Given the description of an element on the screen output the (x, y) to click on. 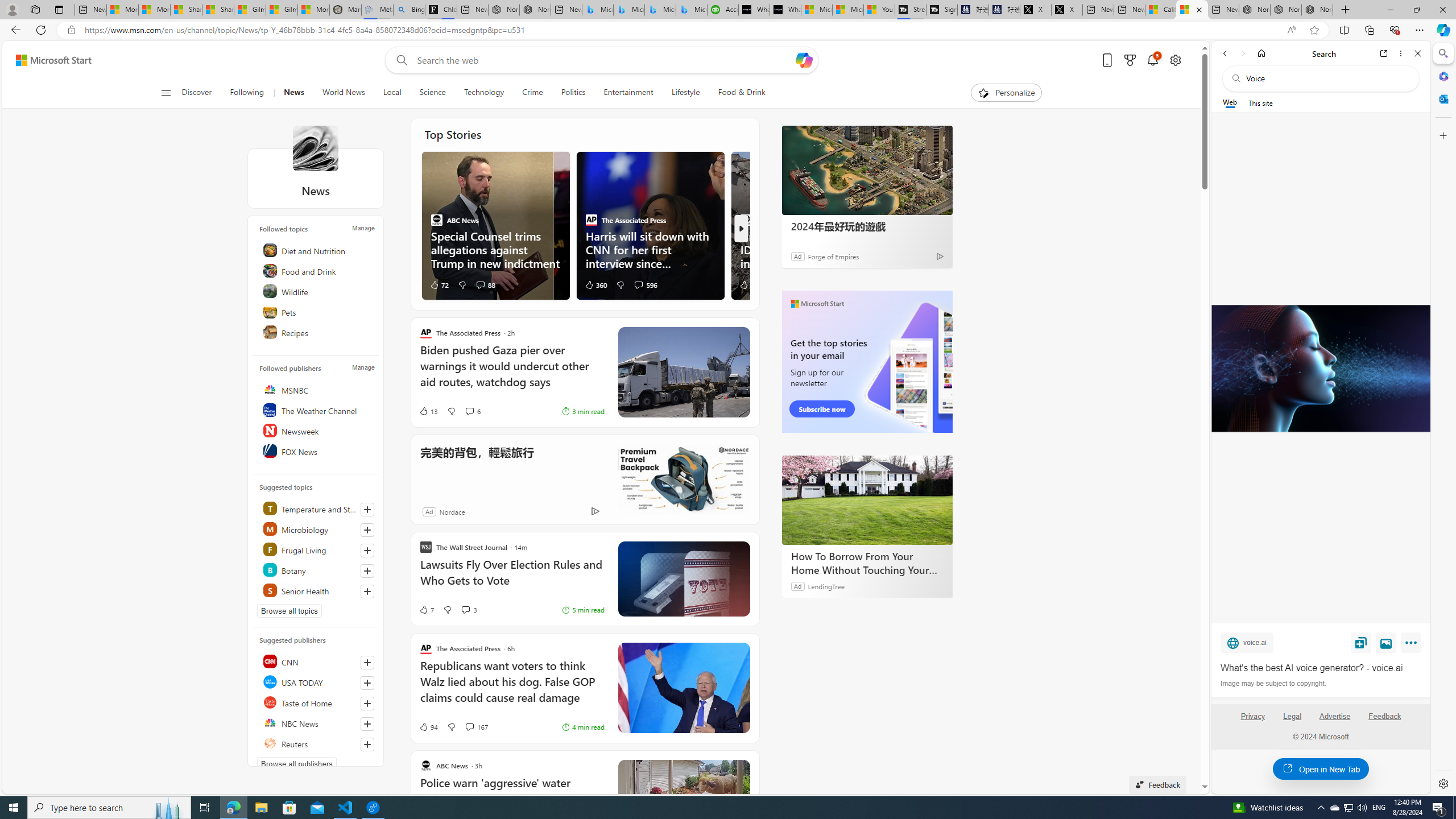
Taste of Home (317, 702)
Chloe Sorvino (440, 9)
Newsweek (317, 430)
Crime (532, 92)
Nordace - #1 Japanese Best-Seller - Siena Smart Backpack (535, 9)
Privacy (1252, 720)
Manage (362, 367)
News (293, 92)
voice.ai (1247, 642)
Personalize (1006, 92)
72 Like (438, 284)
